Given the description of an element on the screen output the (x, y) to click on. 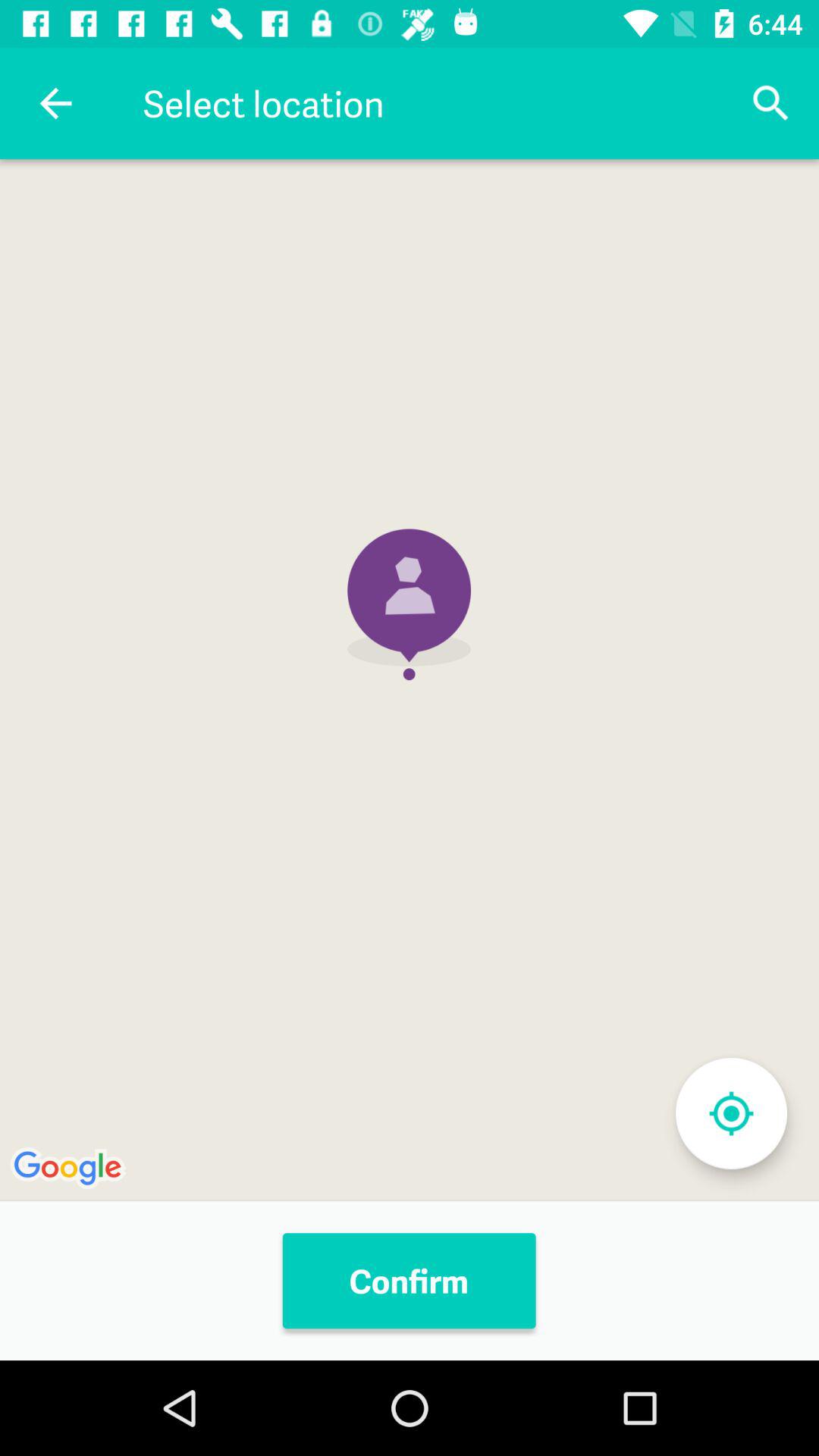
jump until the confirm (408, 1280)
